Given the description of an element on the screen output the (x, y) to click on. 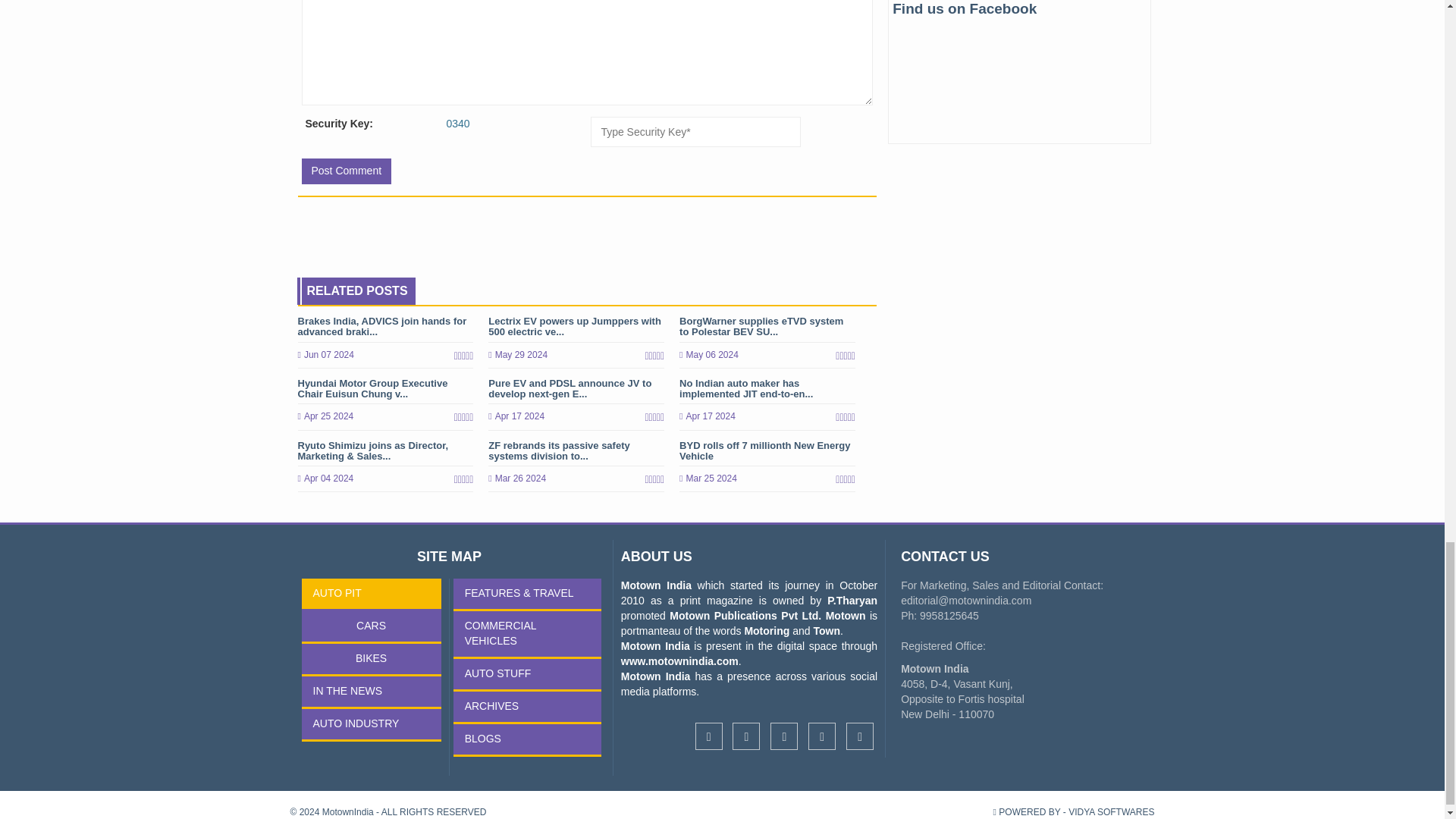
Post Comment (346, 171)
